Given the description of an element on the screen output the (x, y) to click on. 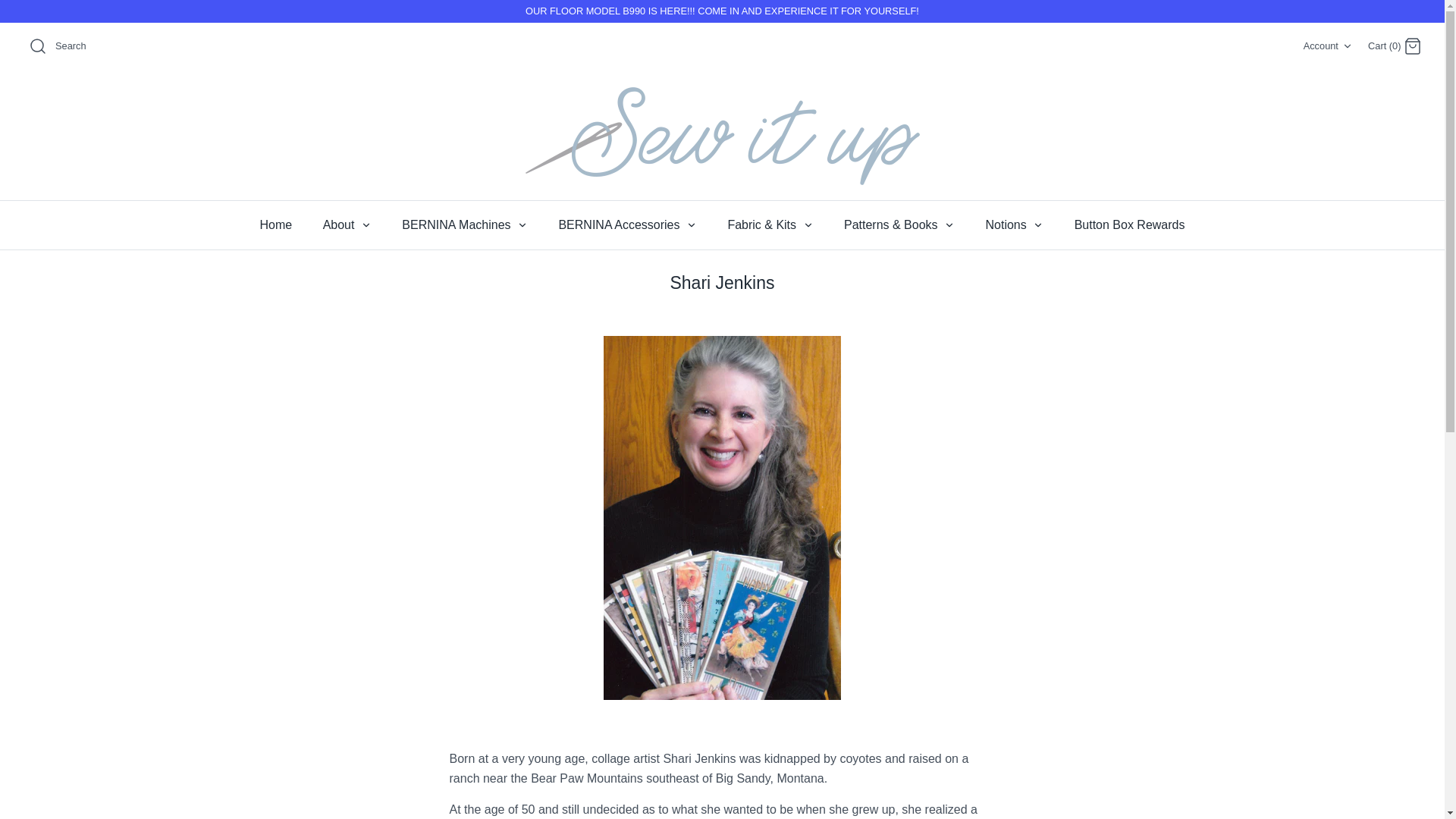
BERNINA Accessories Toggle menu (627, 224)
Toggle menu (949, 225)
Down (1347, 45)
Toggle menu (808, 225)
Toggle menu (521, 225)
About Toggle menu (346, 224)
Toggle menu (366, 225)
Toggle menu (691, 225)
Home (275, 224)
BERNINA Machines Toggle menu (464, 224)
